Given the description of an element on the screen output the (x, y) to click on. 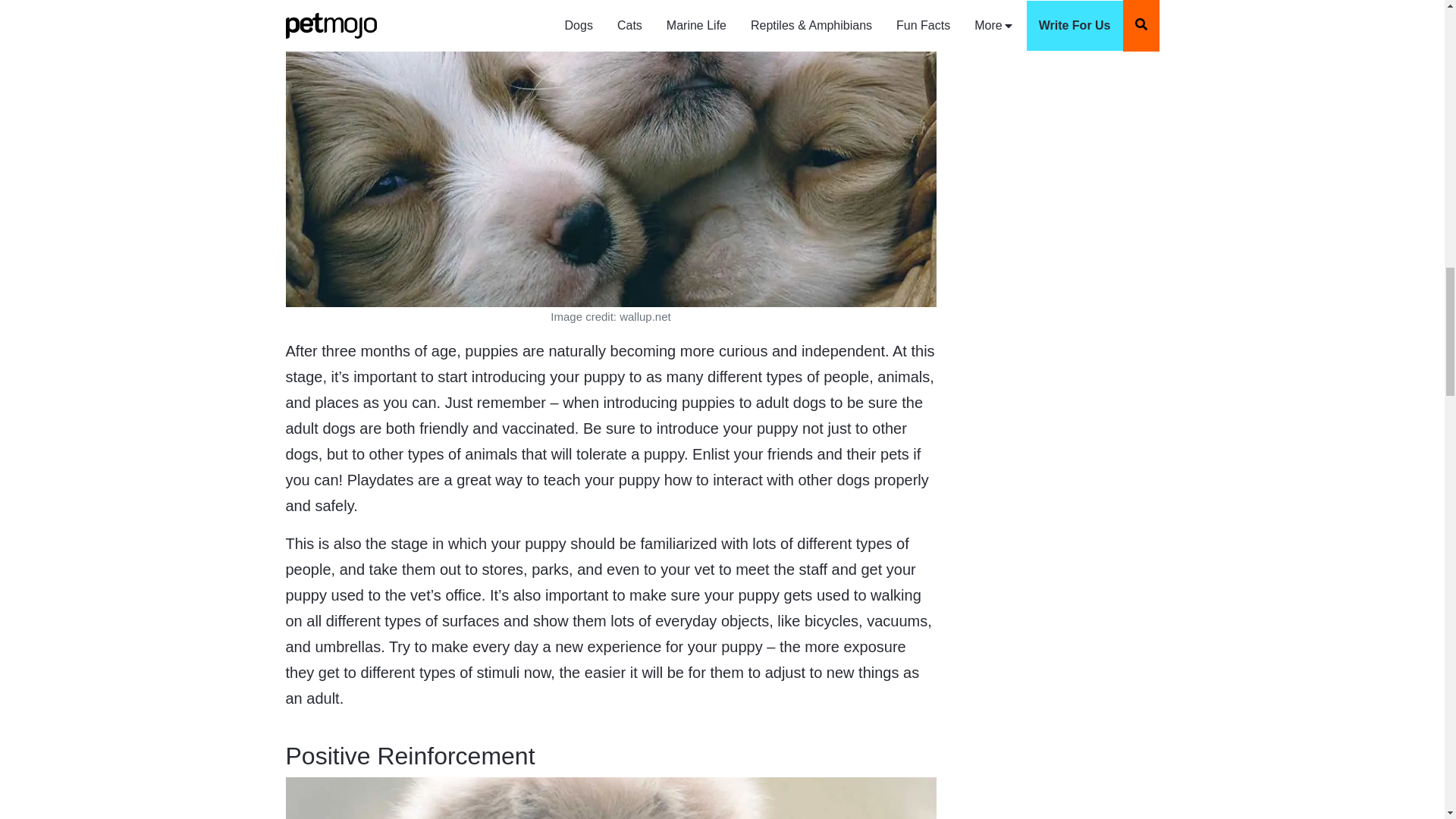
5 Puzzle Toys for Bored Dogs (1040, 6)
